Given the description of an element on the screen output the (x, y) to click on. 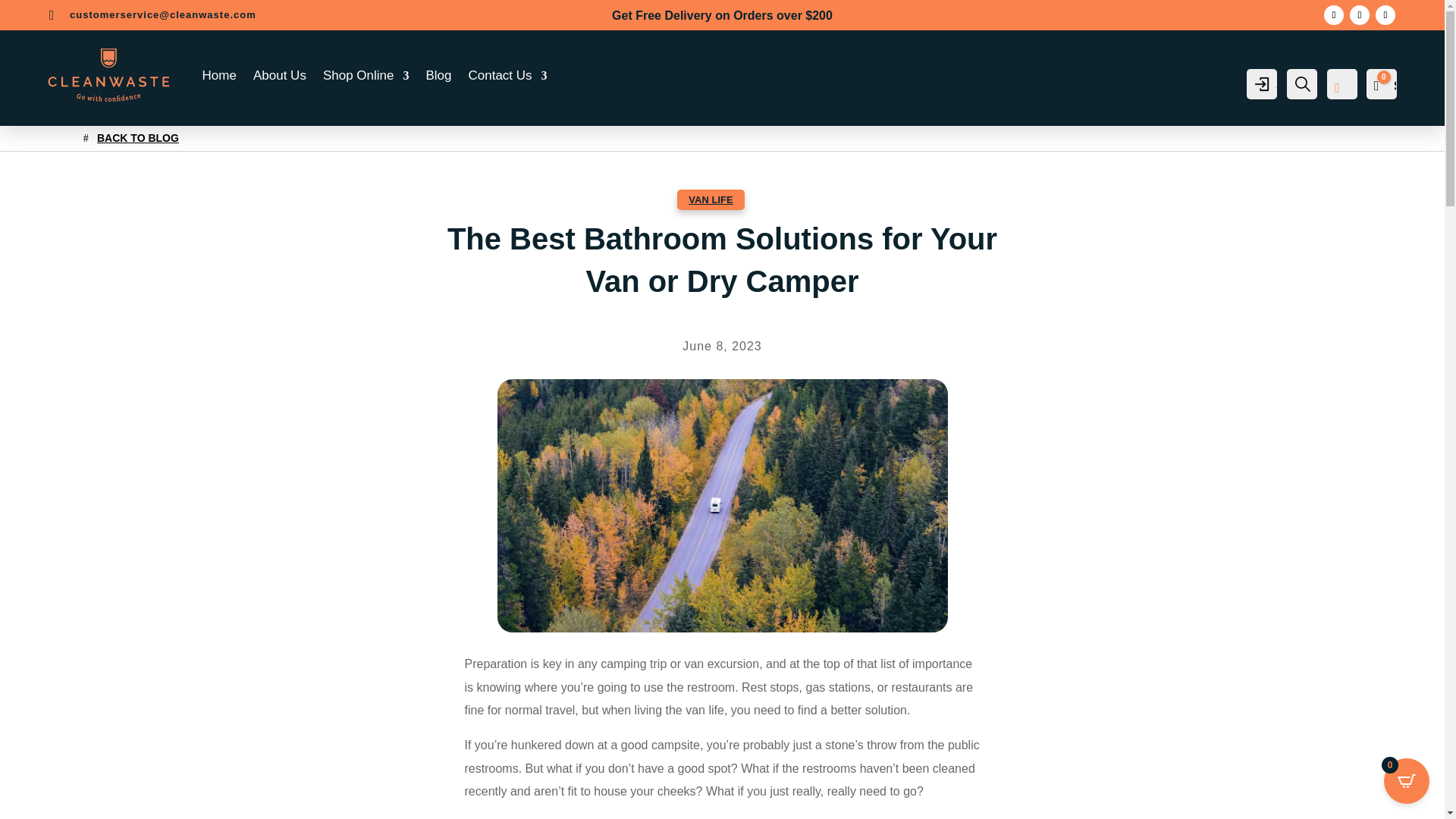
Follow on LinkedIn (1384, 14)
Shop Online (366, 75)
Follow on Facebook (1359, 14)
VAN LIFE (710, 199)
BACK TO BLOG (130, 138)
Contact Us (507, 75)
Follow on Instagram (1333, 14)
